Given the description of an element on the screen output the (x, y) to click on. 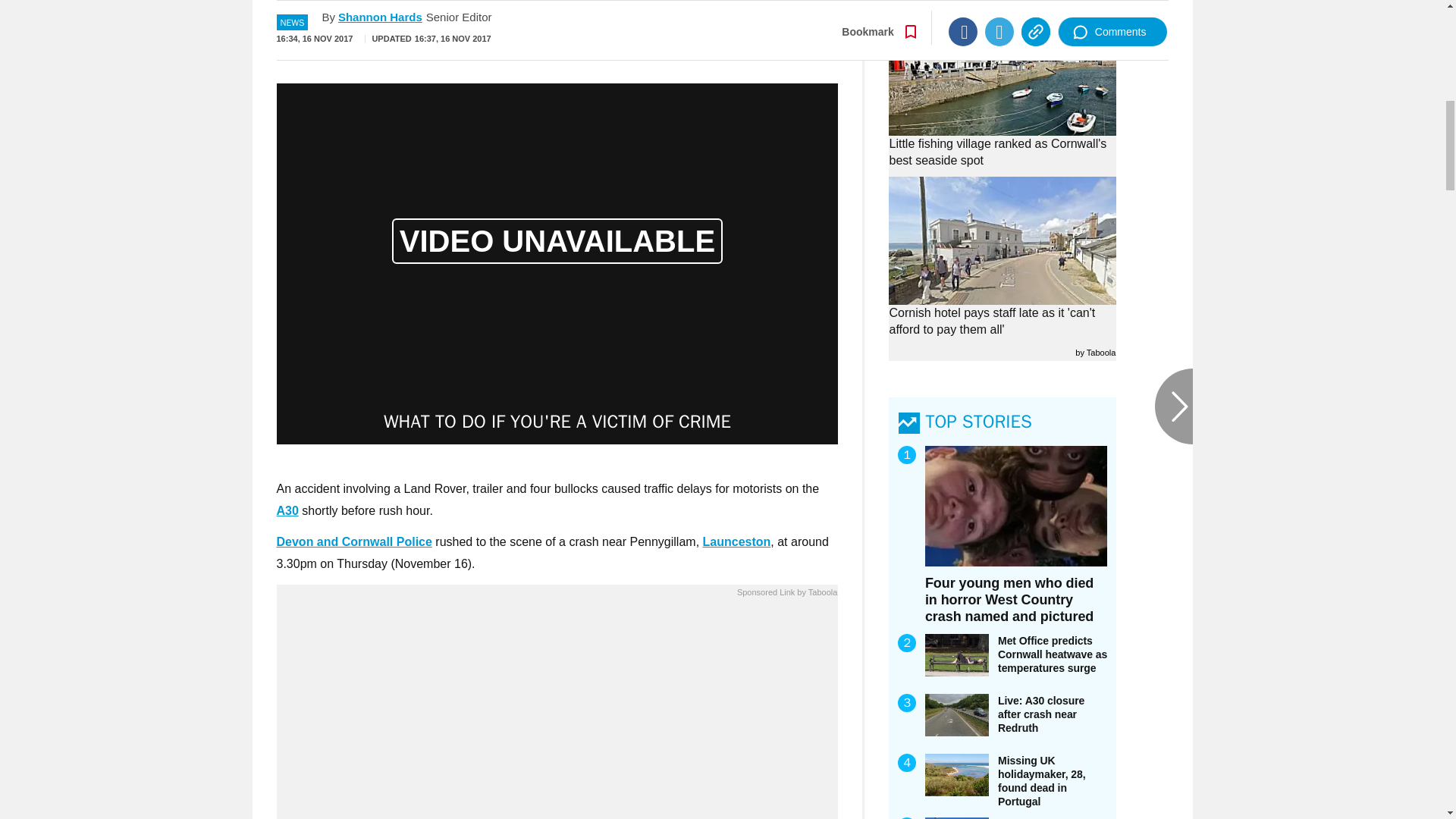
Go (730, 34)
